Given the description of an element on the screen output the (x, y) to click on. 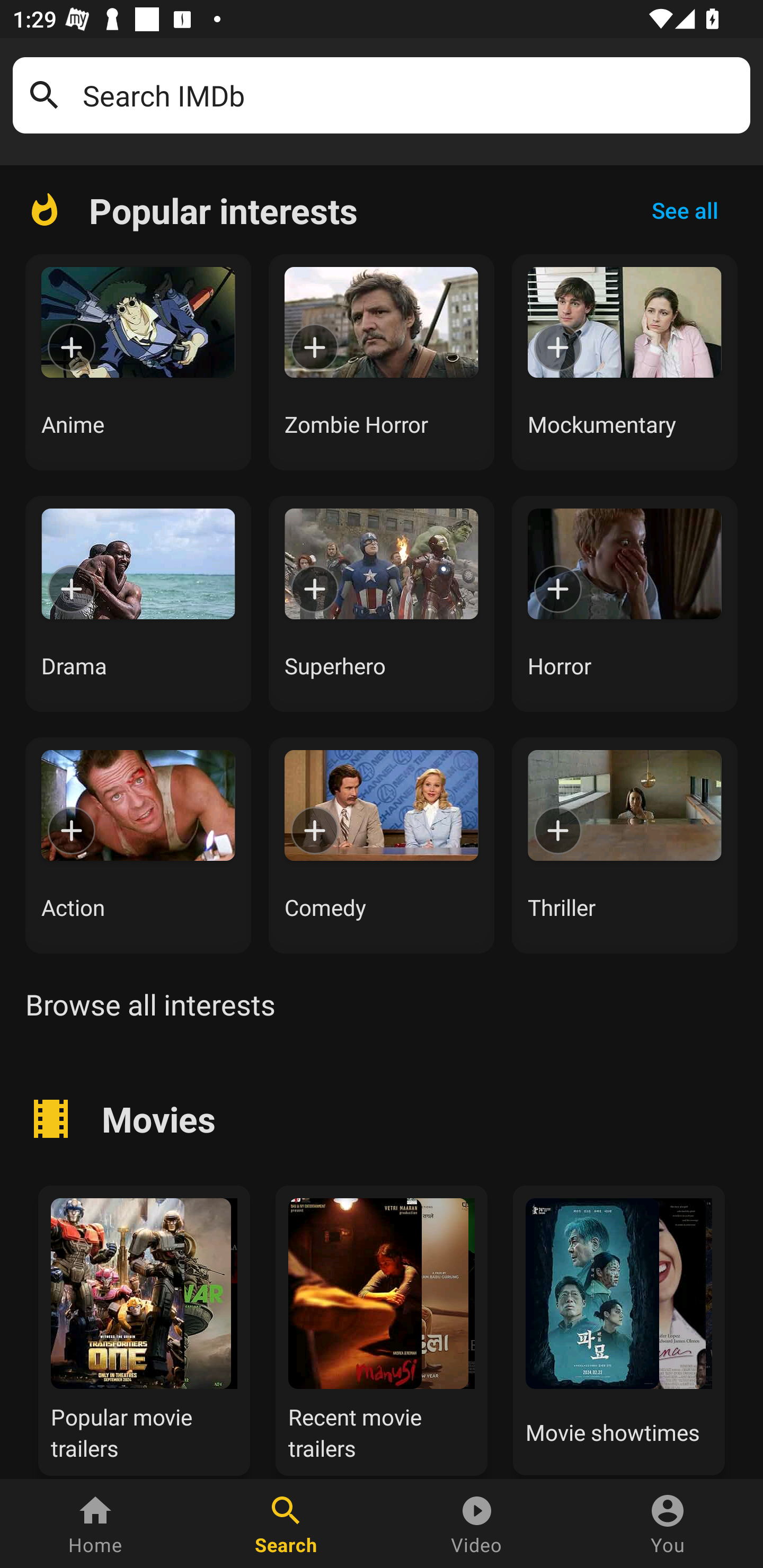
Search IMDb (410, 95)
See all (684, 209)
Anime (138, 361)
Zombie Horror (381, 361)
Mockumentary (624, 361)
Drama (138, 603)
Superhero (381, 603)
Horror (624, 603)
Action (138, 844)
Comedy (381, 844)
Thriller (624, 844)
